Given the description of an element on the screen output the (x, y) to click on. 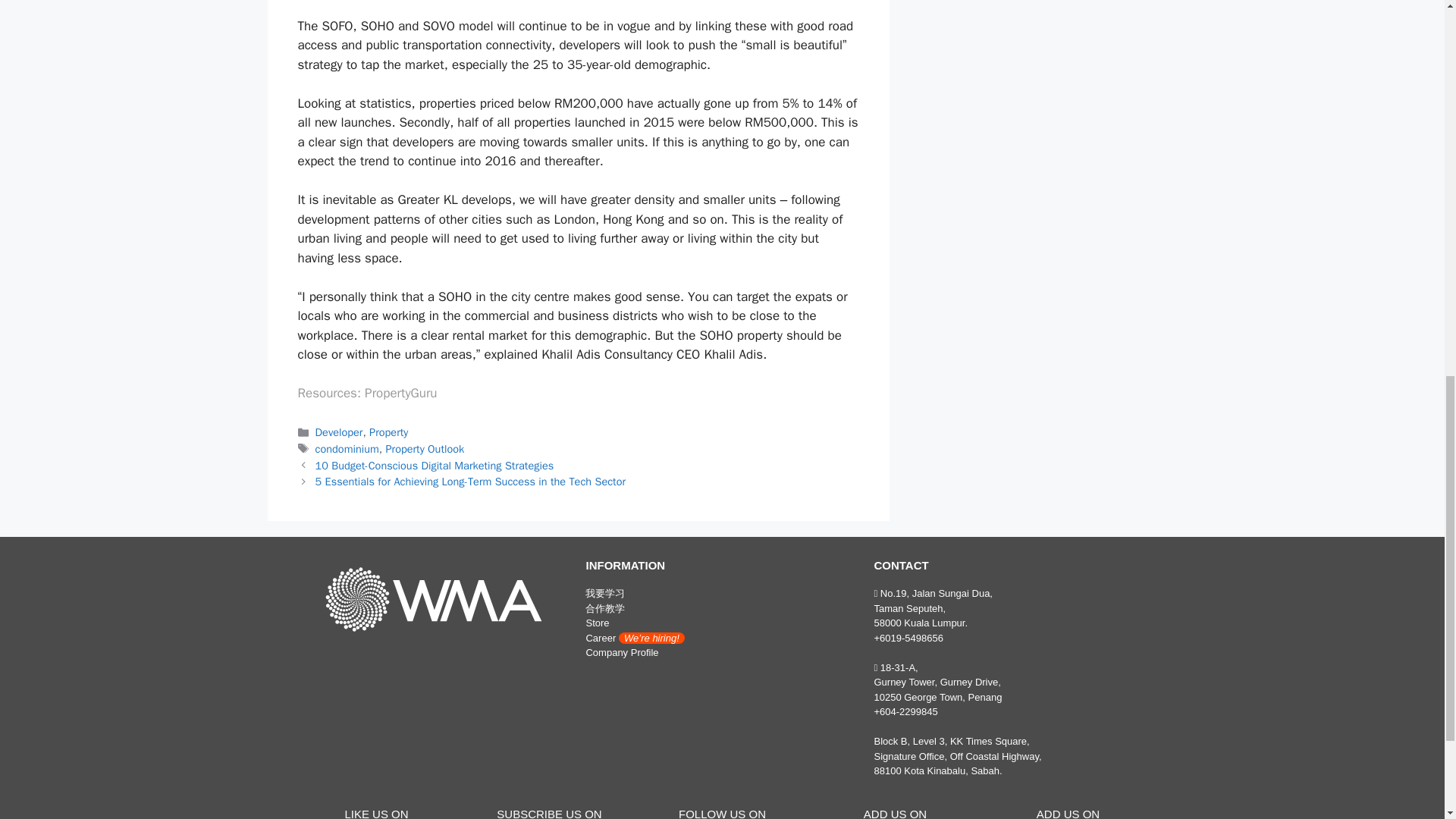
Property (388, 431)
Property Outlook (424, 448)
Developer (338, 431)
Company Profile (621, 652)
Store (596, 622)
10 Budget-Conscious Digital Marketing Strategies (434, 465)
condominium (346, 448)
